Given the description of an element on the screen output the (x, y) to click on. 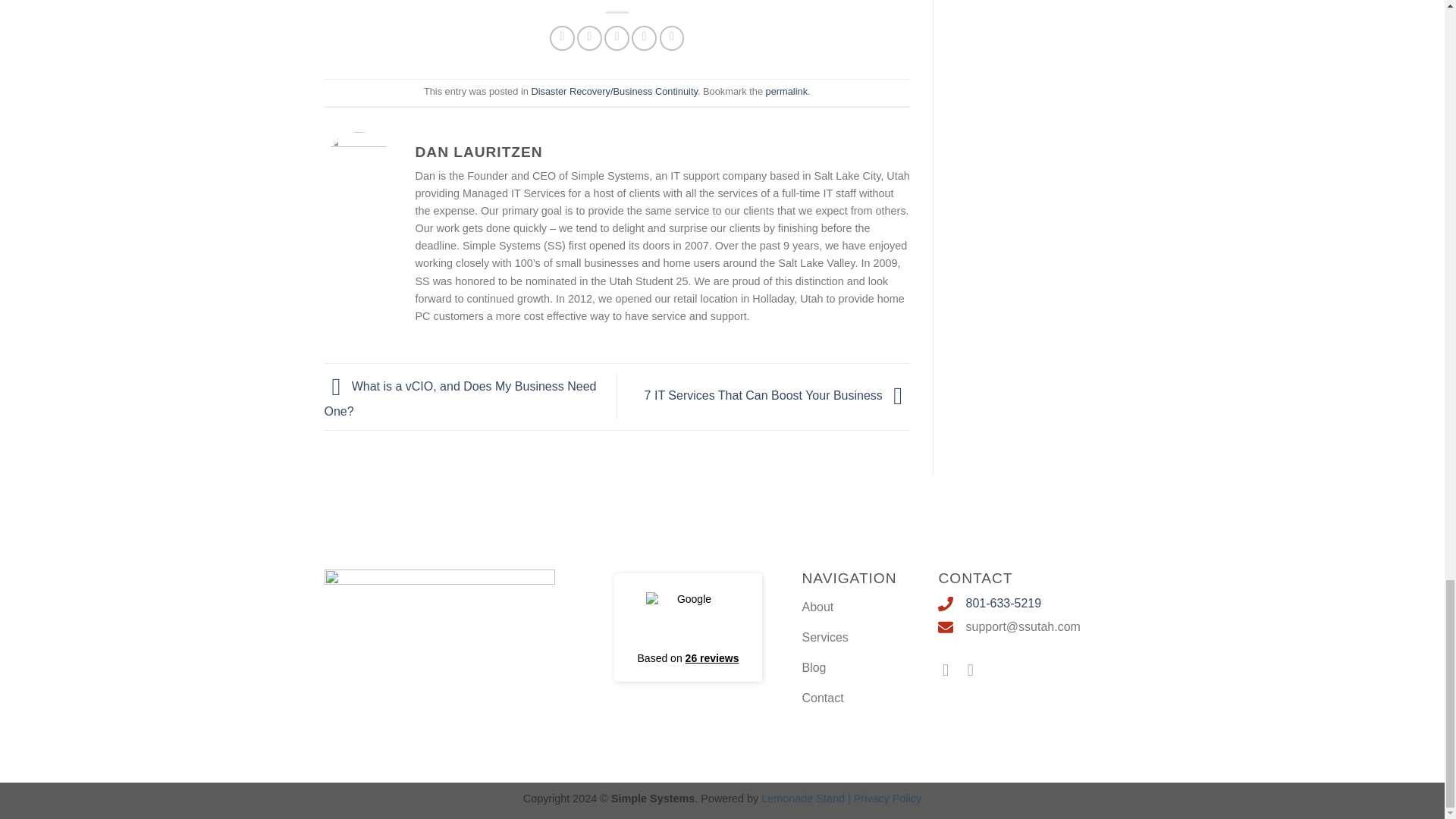
Follow on LinkedIn (976, 669)
Email to a Friend (616, 37)
Share on Facebook (562, 37)
Share on Twitter (589, 37)
Share on Tumblr (671, 37)
Pin on Pinterest (643, 37)
Follow on Facebook (950, 669)
